Given the description of an element on the screen output the (x, y) to click on. 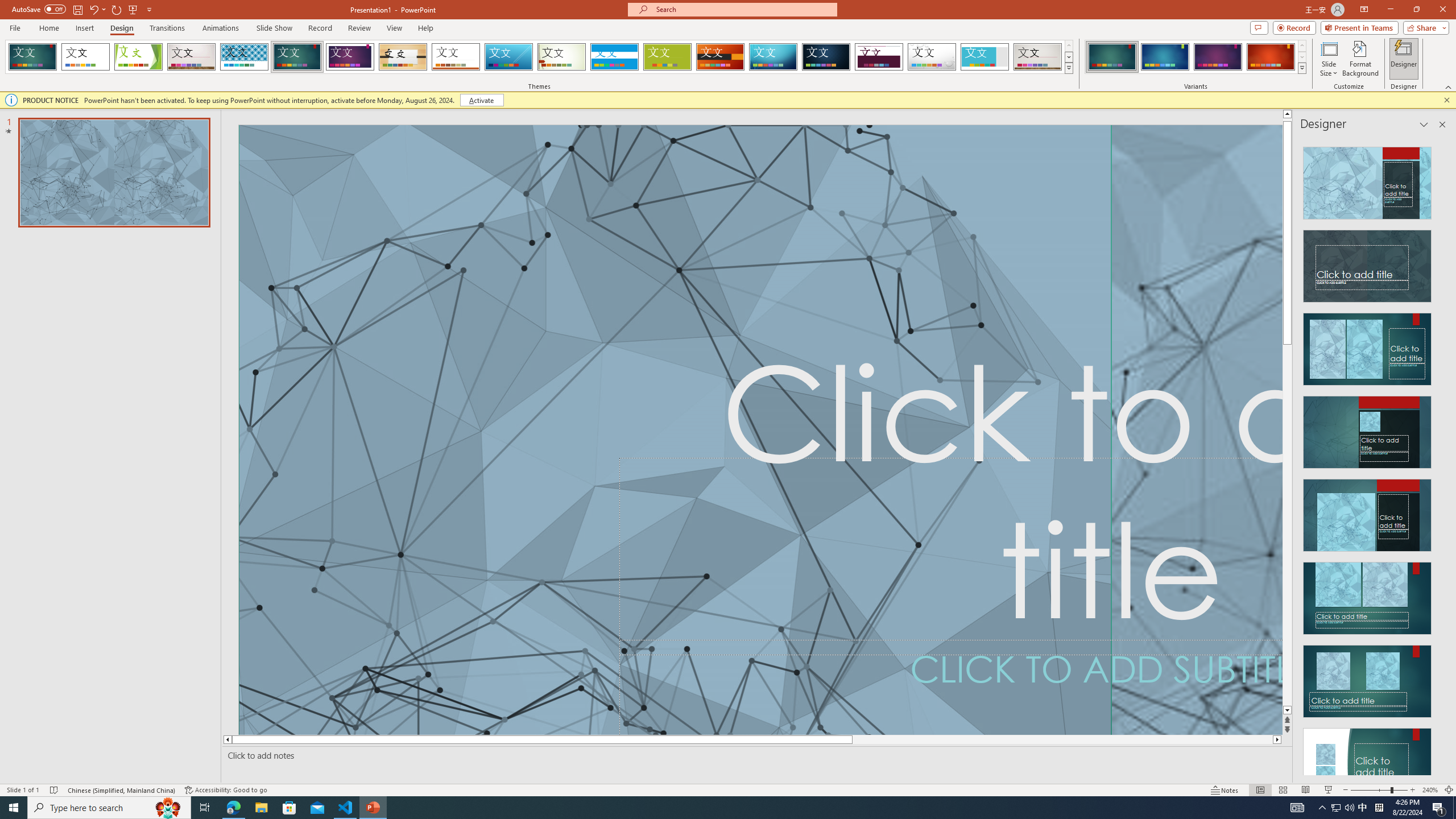
Ion Variant 2 (1164, 56)
Normal (1260, 790)
Berlin (720, 56)
Collapse the Ribbon (1448, 86)
FadeVTI (32, 56)
Row up (1301, 45)
Slide Sorter (1282, 790)
Design Idea (1366, 760)
More Options (103, 9)
Recommended Design: Design Idea (1366, 179)
Basis (667, 56)
Ion Variant 4 (1270, 56)
Ion Variant 3 (1217, 56)
